Given the description of an element on the screen output the (x, y) to click on. 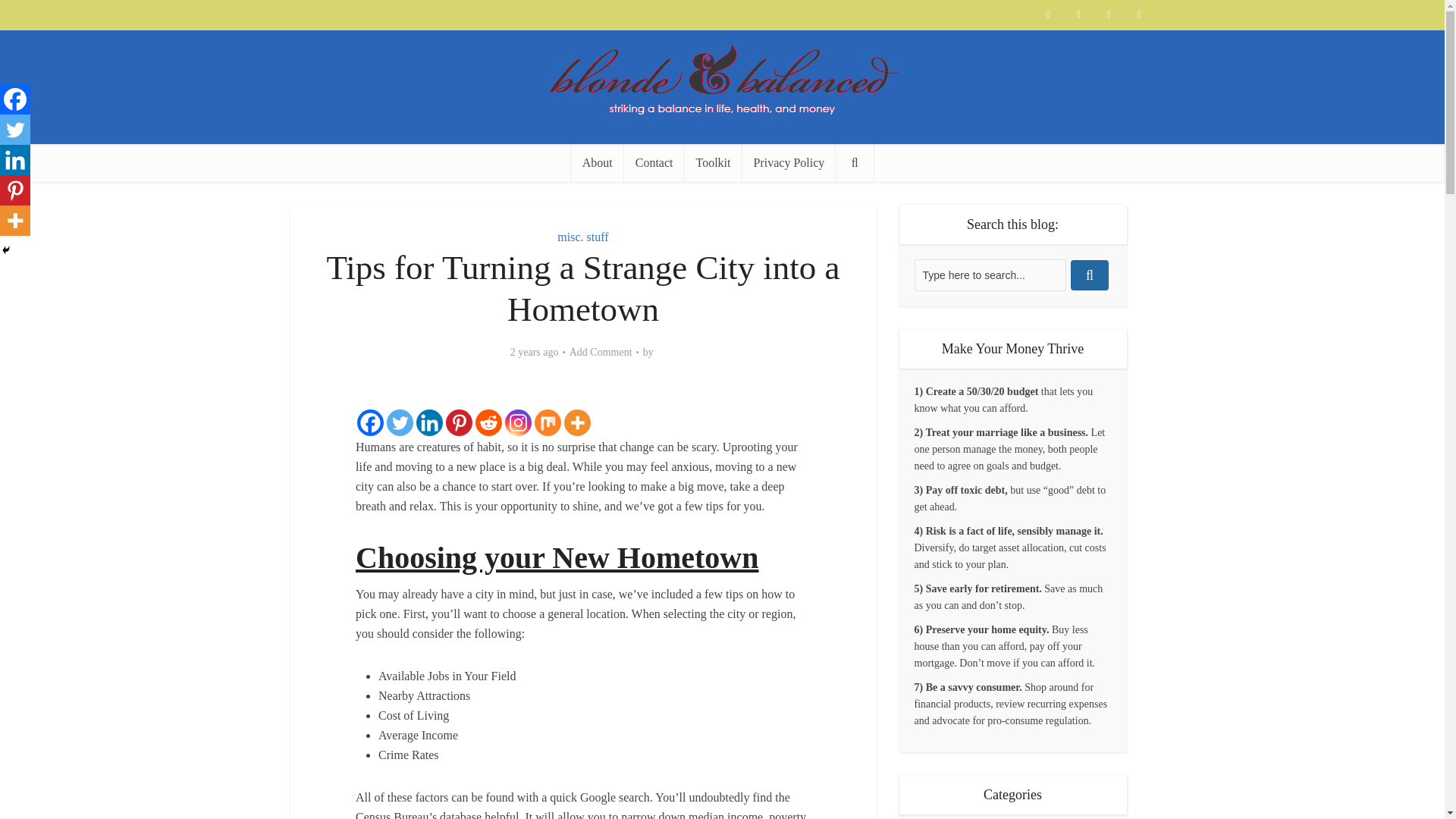
Reddit (489, 422)
Twitter (15, 129)
Toolkit (712, 162)
Linkedin (429, 422)
More (15, 220)
Contact (654, 162)
Twitter (400, 422)
About (597, 162)
Type here to search... (989, 275)
Linkedin (15, 159)
Hide (5, 250)
misc. stuff (582, 236)
More (577, 422)
Pinterest (15, 190)
Facebook (370, 422)
